Given the description of an element on the screen output the (x, y) to click on. 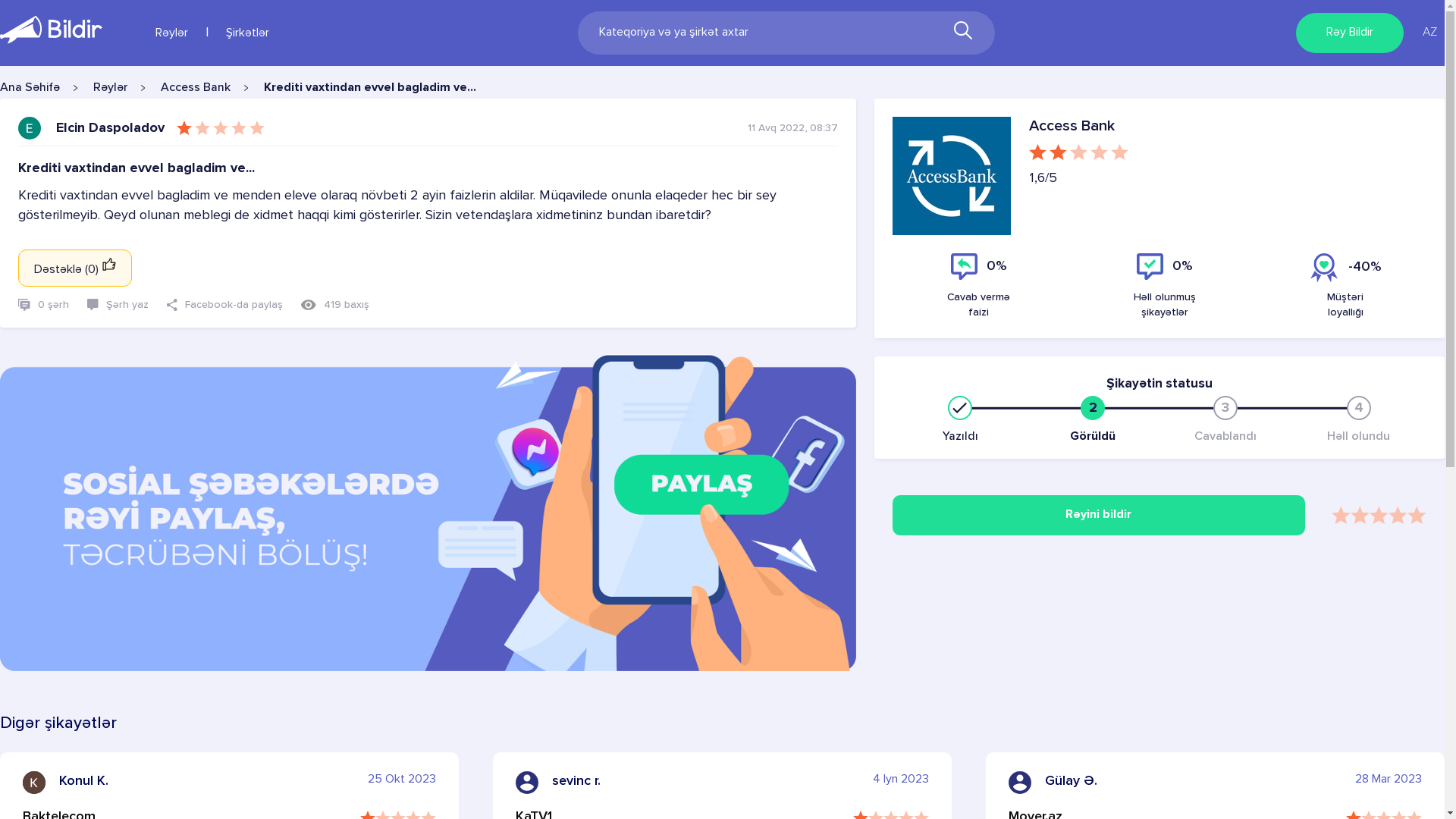
Access Bank Element type: text (195, 87)
Elcin Daspoladov Element type: text (110, 127)
AZ Element type: text (1429, 32)
